Given the description of an element on the screen output the (x, y) to click on. 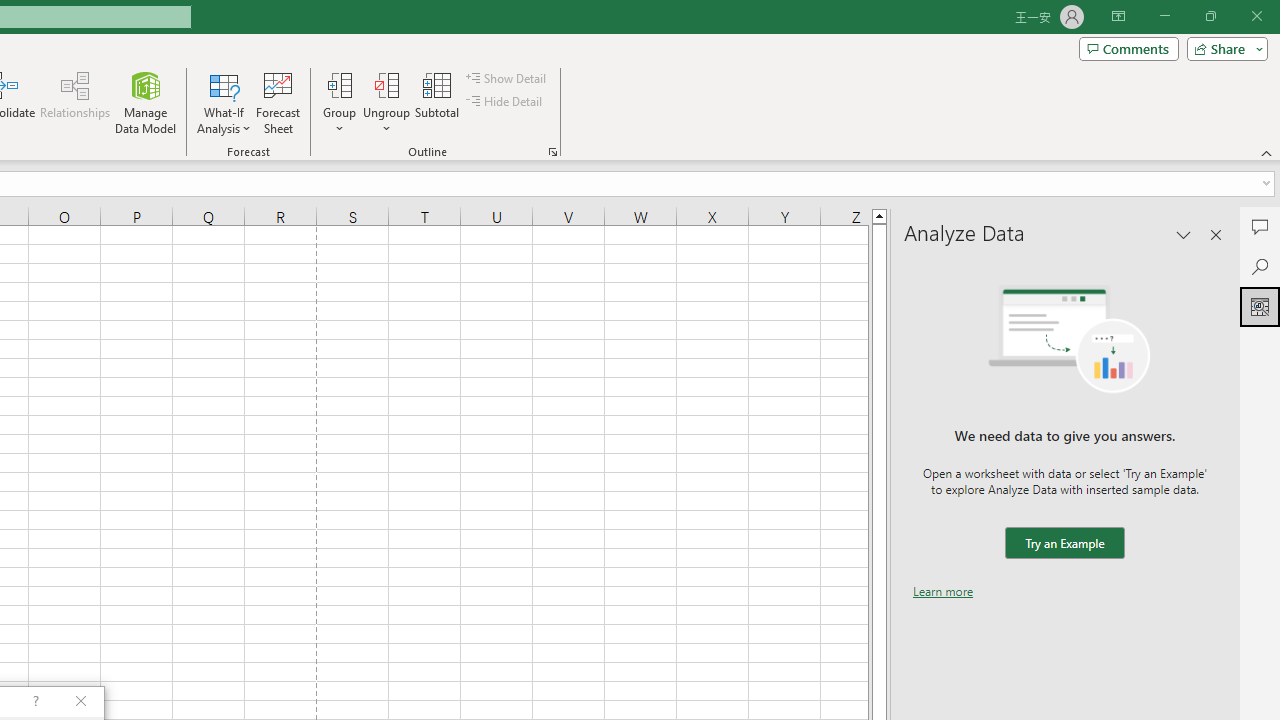
Manage Data Model (145, 102)
Share (1223, 48)
Learn more (943, 591)
Group... (339, 84)
Analyze Data (1260, 306)
We need data to give you answers. Try an Example (1064, 543)
Show Detail (507, 78)
Search (1260, 266)
Task Pane Options (1183, 234)
Close pane (1215, 234)
What-If Analysis (223, 102)
Minimize (1164, 16)
Subtotal (437, 102)
